Given the description of an element on the screen output the (x, y) to click on. 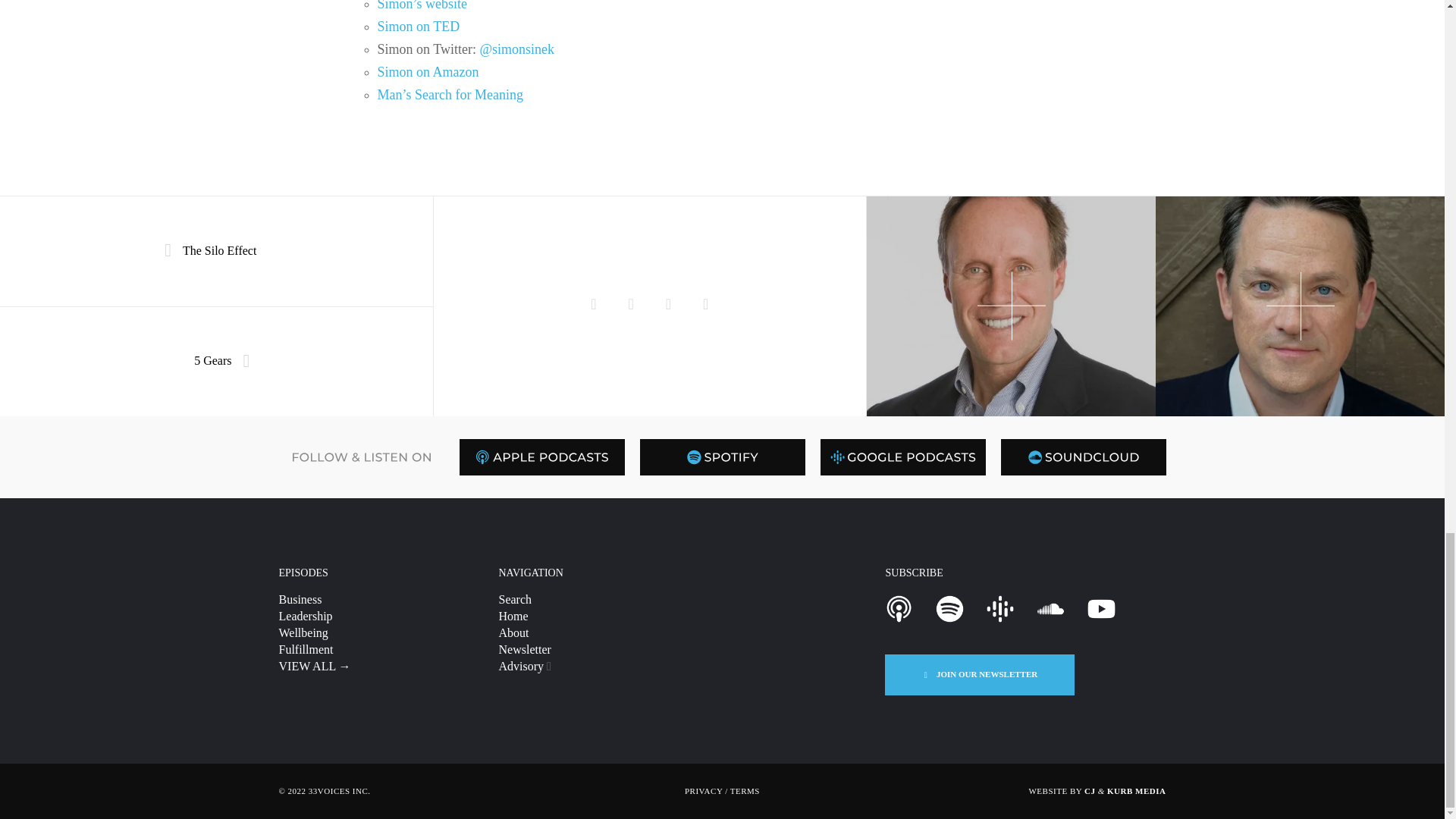
Start With Why (630, 306)
Start With Why (667, 306)
Listen on Apple Podcasts (542, 456)
Start With Why (593, 306)
Simon on TED (418, 26)
Listen on SoundCloud (1083, 456)
Listen on Spotify (722, 456)
5 Gears (216, 361)
Start With Why (705, 306)
Listen on Google Podcasts (903, 456)
